Given the description of an element on the screen output the (x, y) to click on. 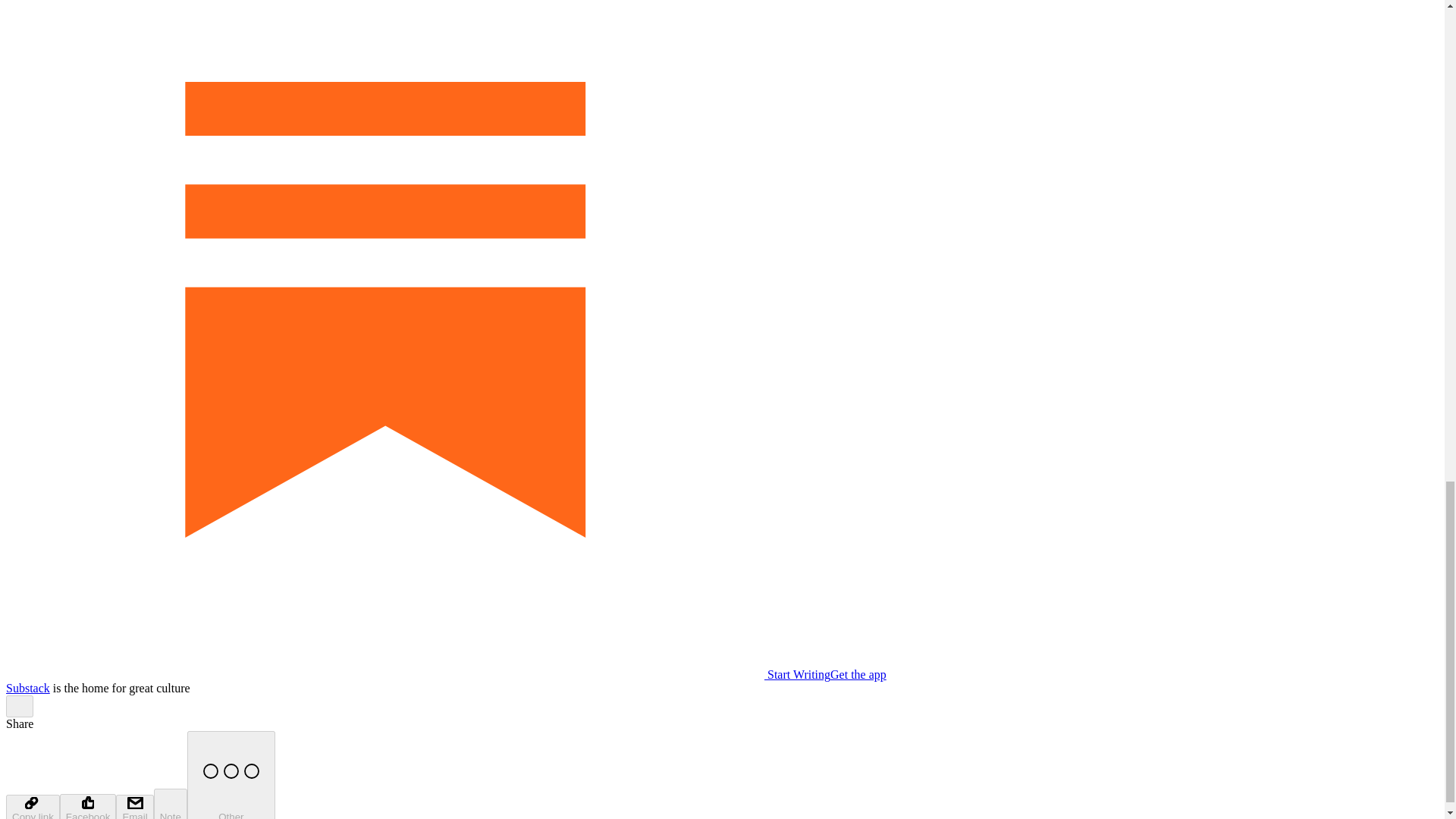
Get the app (857, 674)
Start Writing (417, 674)
Substack (27, 687)
